Given the description of an element on the screen output the (x, y) to click on. 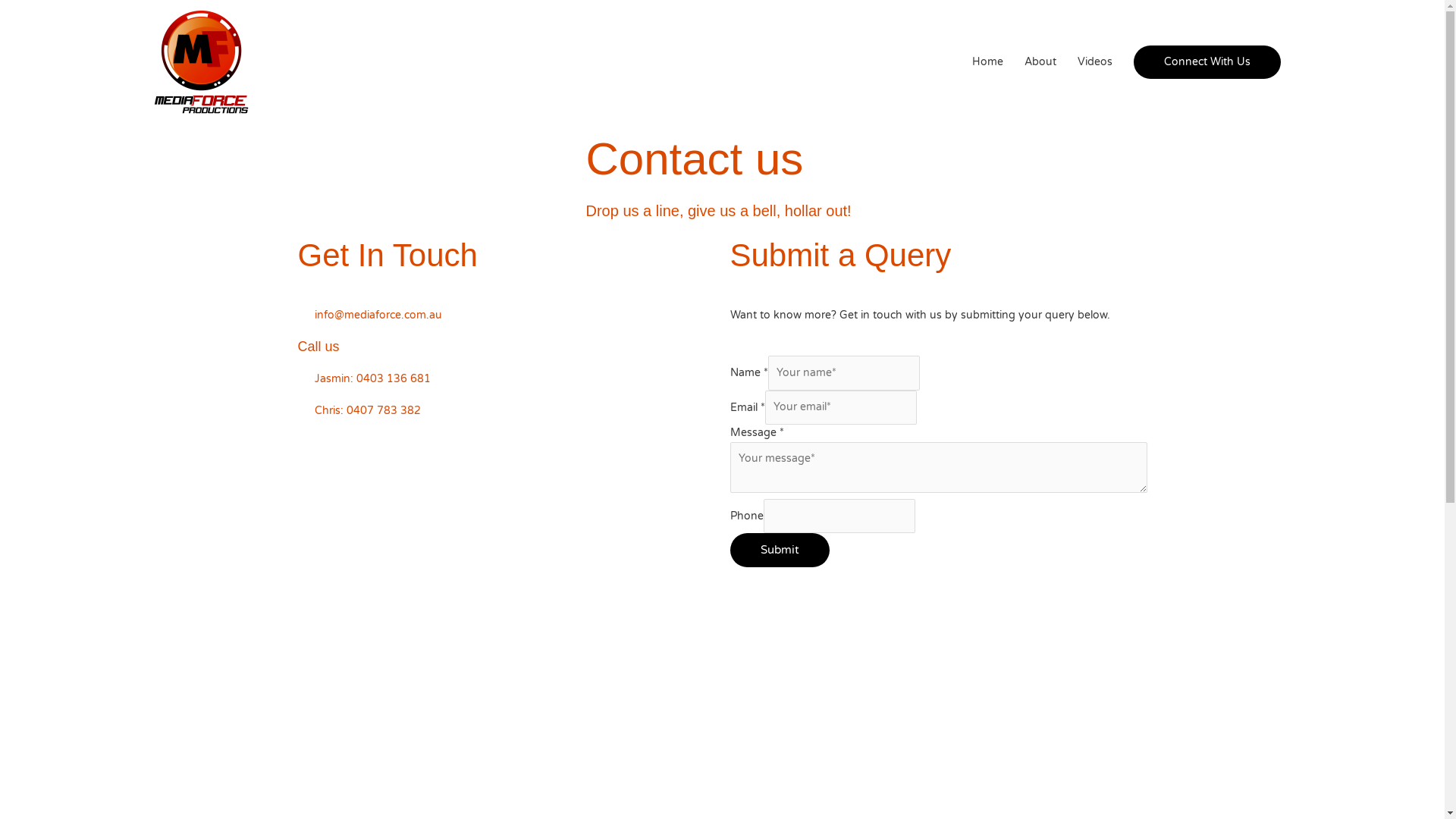
Chris: 0407 783 382 Element type: text (505, 410)
Home Element type: text (987, 61)
info@mediaforce.com.au Element type: text (505, 315)
Brisbane Element type: hover (722, 695)
Connect With Us Element type: text (1206, 61)
Submit Element type: text (778, 550)
Videos Element type: text (1094, 61)
Jasmin: 0403 136 681 Element type: text (505, 378)
About Element type: text (1039, 61)
